Given the description of an element on the screen output the (x, y) to click on. 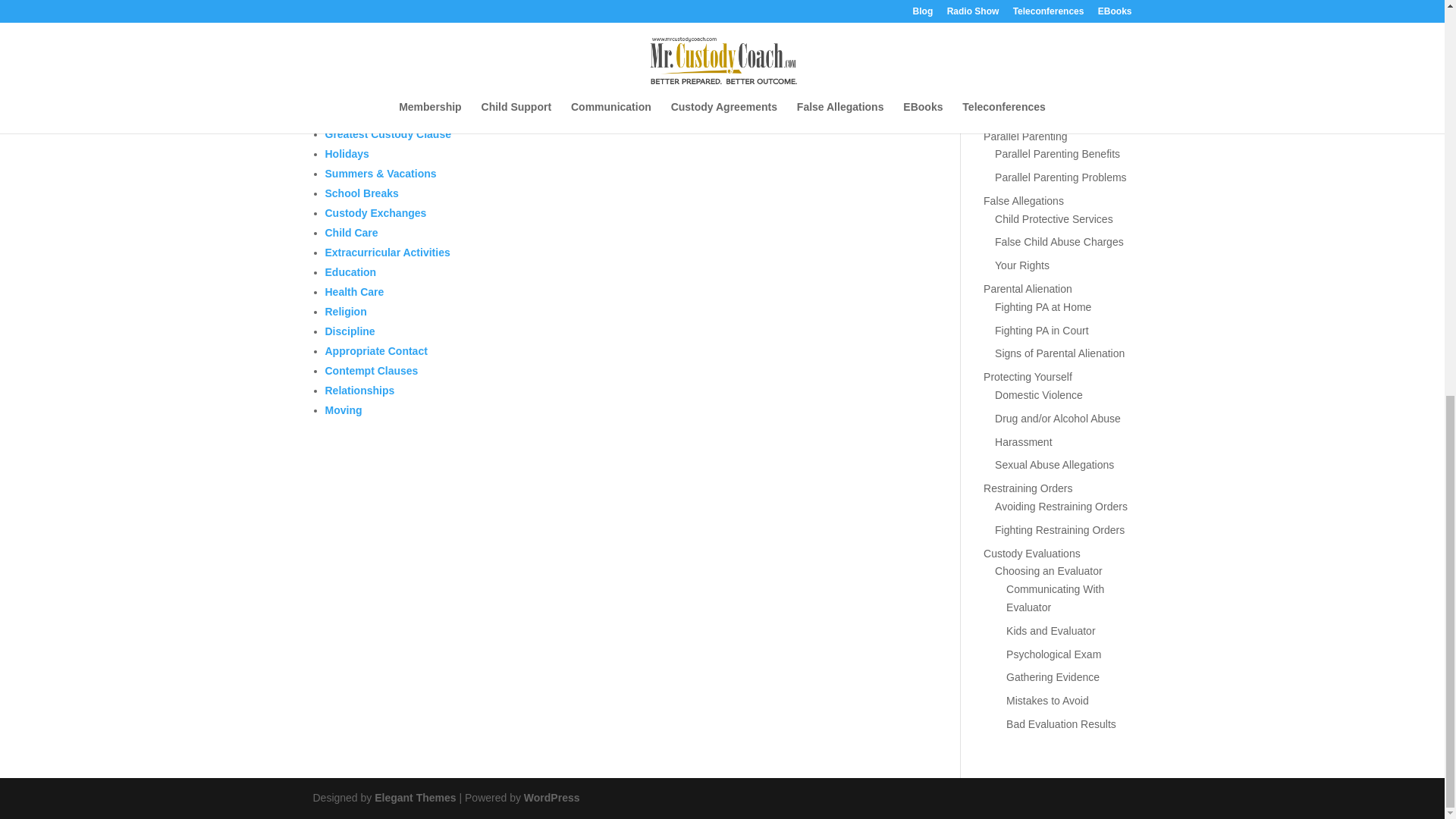
Extracurricular Activities (386, 252)
Custody Exchanges (375, 213)
Religion (345, 311)
Appropriate Contact (375, 350)
Contempt Clauses (370, 370)
Relationships (359, 390)
Greatest Custody Clause (387, 133)
Holidays (346, 153)
Moving (342, 410)
Premium WordPress Themes (414, 797)
